Given the description of an element on the screen output the (x, y) to click on. 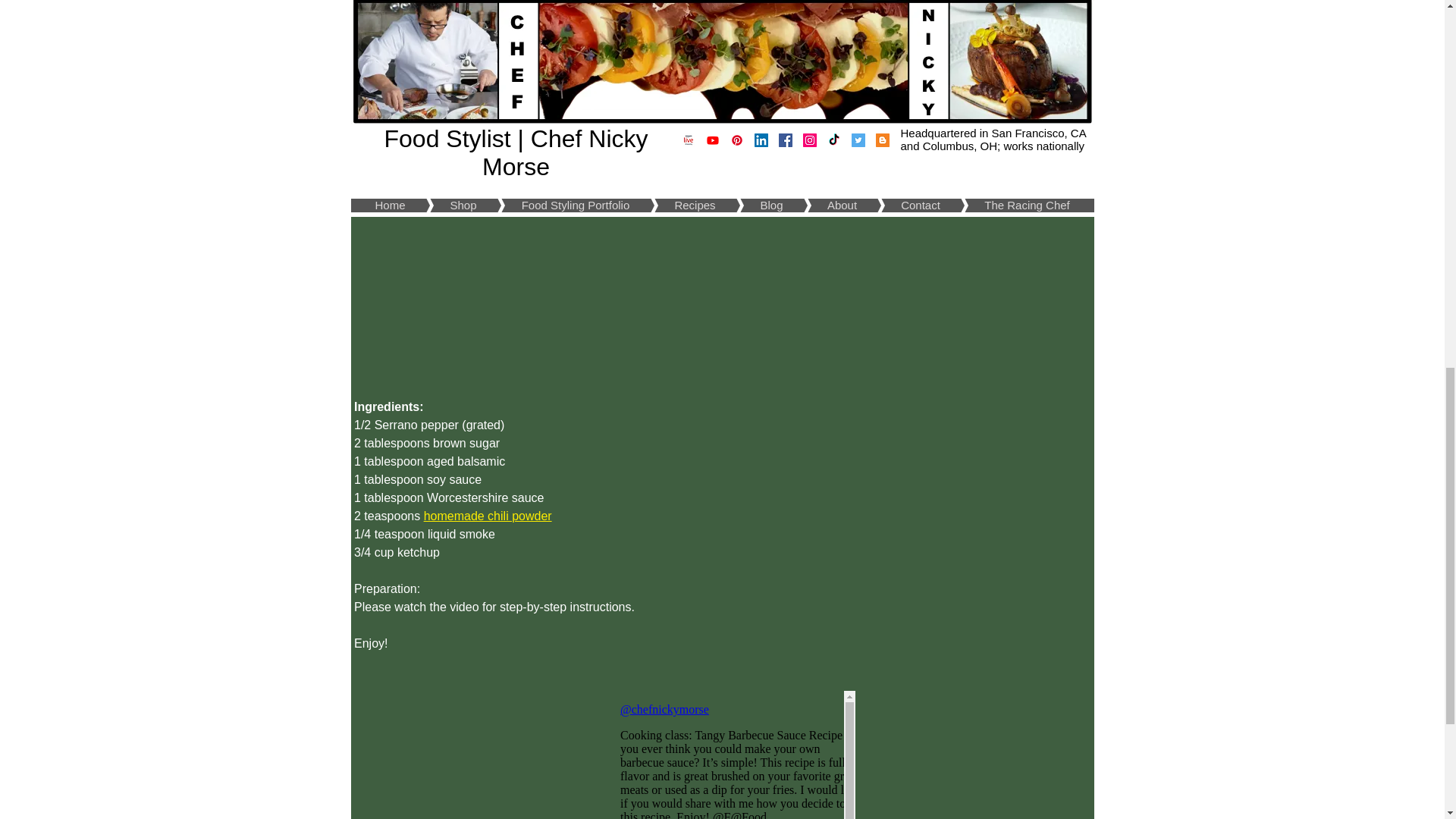
remote content (722, 755)
homemade chili powder (487, 515)
